Given the description of an element on the screen output the (x, y) to click on. 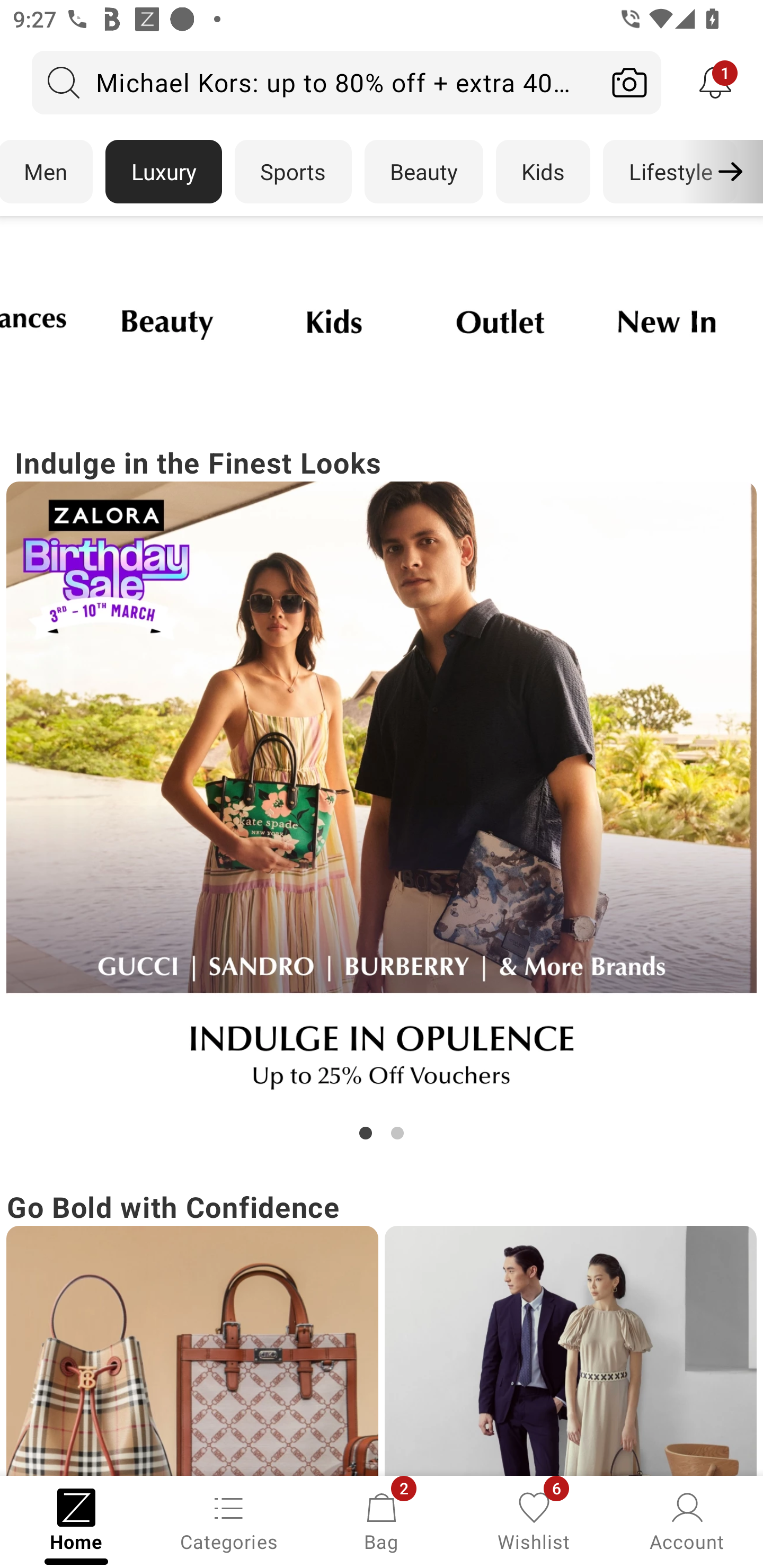
Michael Kors: up to 80% off + extra 40% off (314, 82)
Men (46, 171)
Luxury (163, 171)
Sports (293, 171)
Beauty (423, 171)
Kids (542, 171)
Lifestyle (669, 171)
Campaign banner (167, 321)
Campaign banner (334, 321)
Campaign banner (500, 321)
Campaign banner (666, 321)
 Indulge in the Finest Looks Campaign banner (381, 792)
Campaign banner (381, 797)
Campaign banner (192, 1350)
Campaign banner (570, 1350)
Categories (228, 1519)
Bag, 2 new notifications Bag (381, 1519)
Wishlist, 6 new notifications Wishlist (533, 1519)
Account (686, 1519)
